Given the description of an element on the screen output the (x, y) to click on. 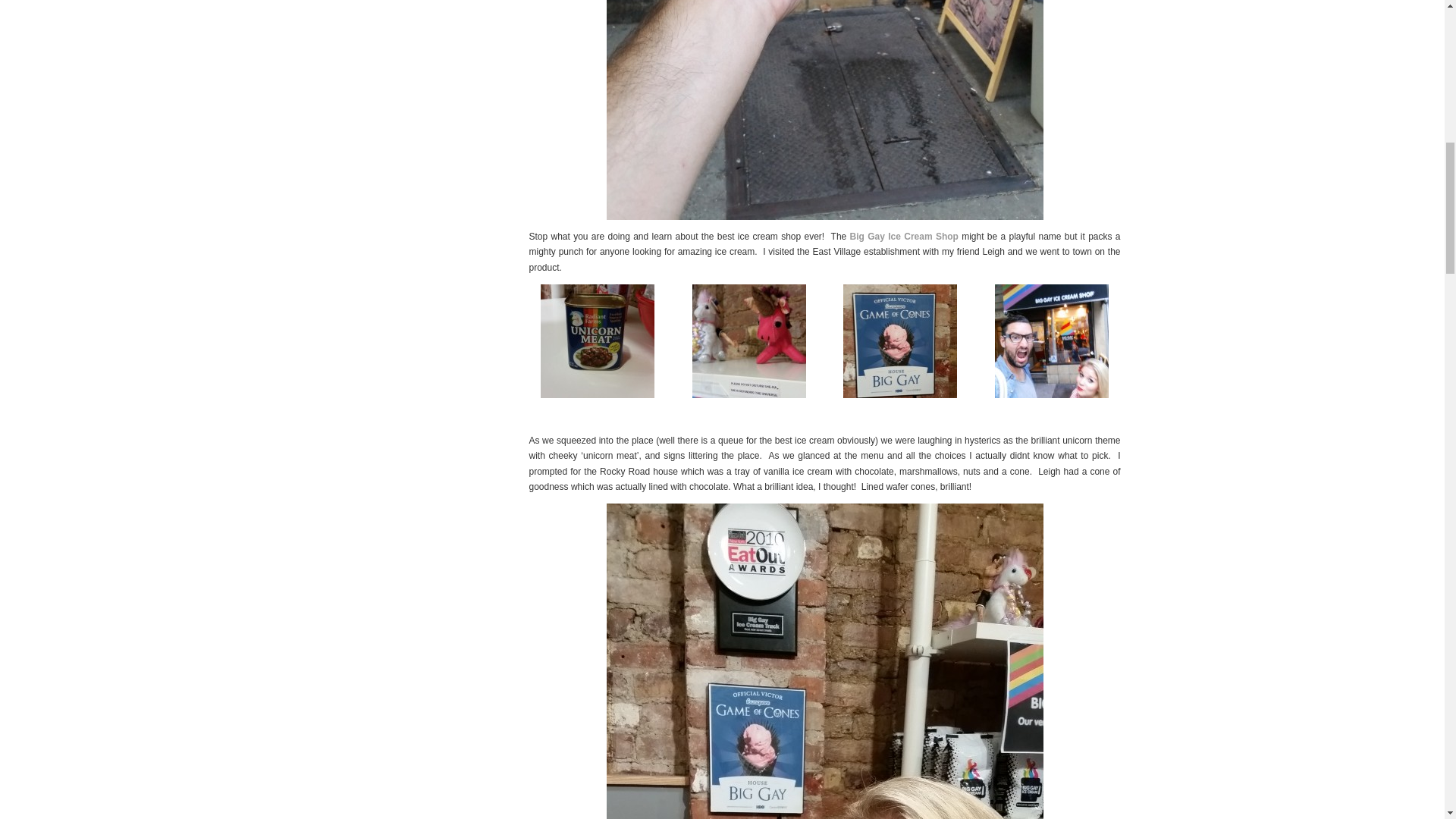
Big Gay Ice Cream Shop (904, 235)
